Given the description of an element on the screen output the (x, y) to click on. 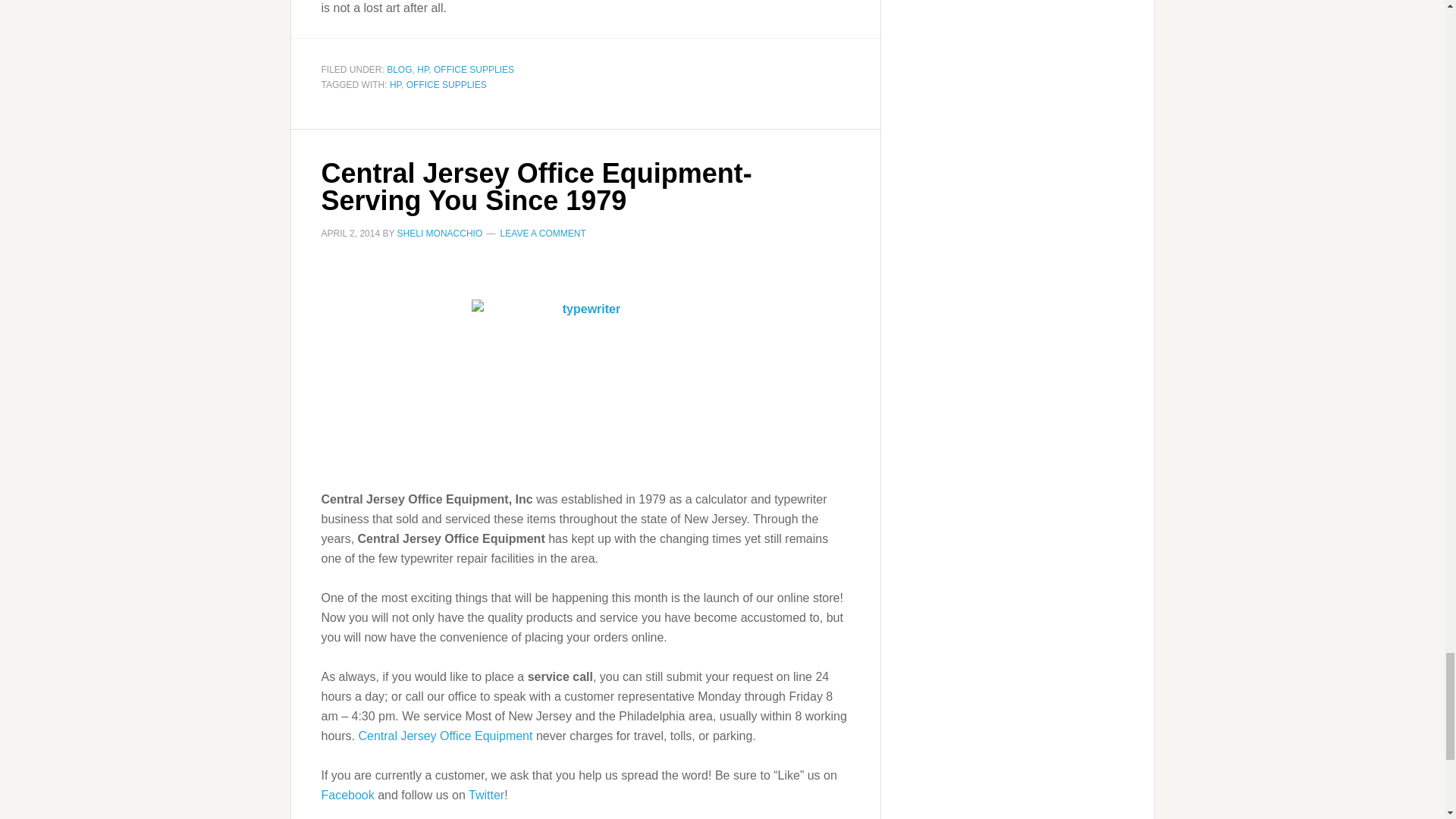
CJOE (584, 384)
cjoe Facebook (347, 794)
Central Jersey Office Equipment-Serving You Since 1979 (536, 187)
BLOG (399, 69)
OFFICE SUPPLIES (446, 84)
OFFICE SUPPLIES (473, 69)
HP (422, 69)
Central Jersey Office Equipment (445, 735)
request service (445, 735)
HP (395, 84)
LEAVE A COMMENT (543, 233)
CJOfficeEquip Twitter (485, 794)
SHELI MONACCHIO (440, 233)
